Given the description of an element on the screen output the (x, y) to click on. 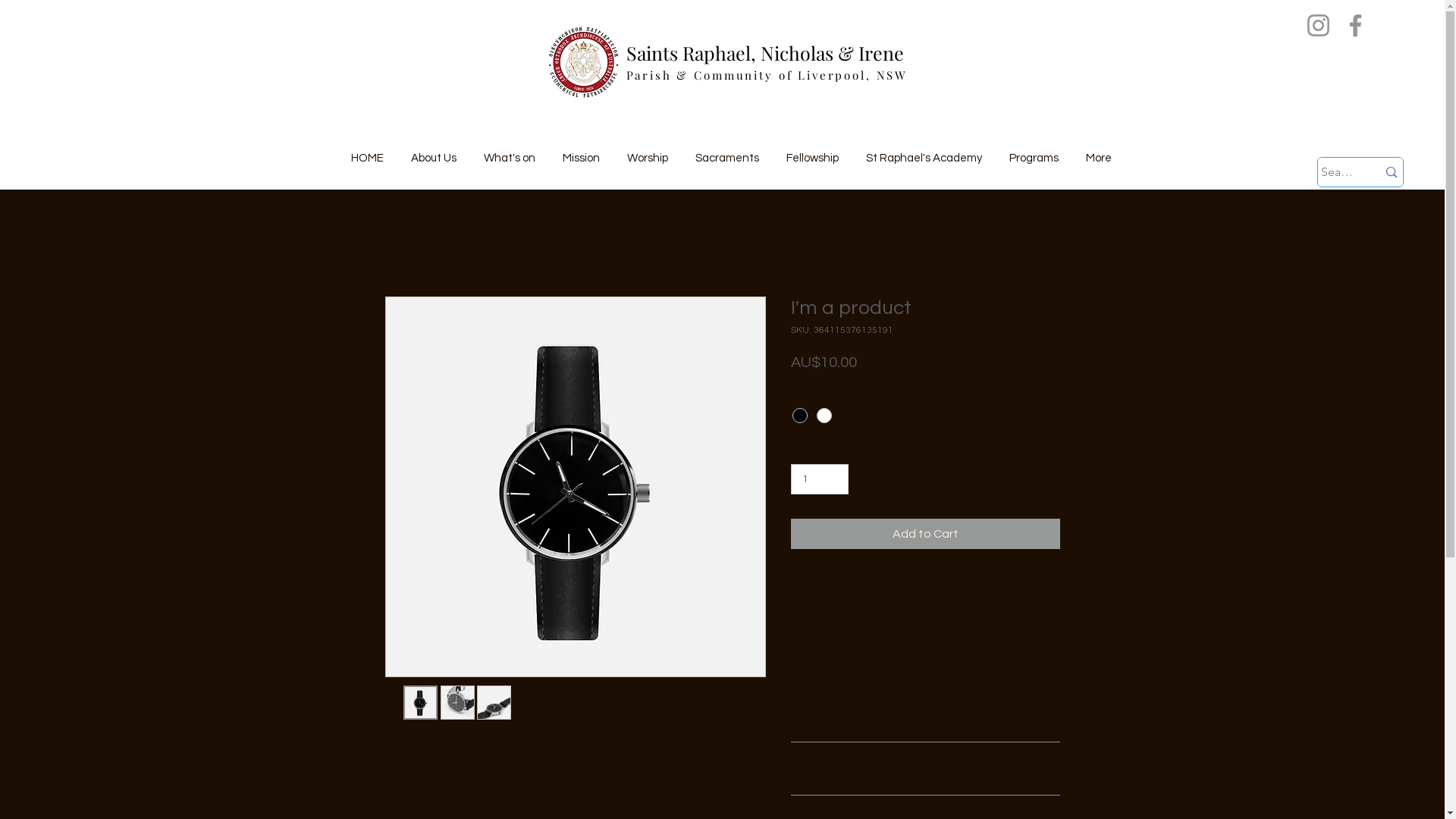
Add to Cart Element type: text (924, 533)
About Us Element type: text (433, 151)
Sacraments Element type: text (725, 151)
What's on Element type: text (509, 151)
RETURN & REFUND POLICY Element type: text (924, 768)
HOME Element type: text (366, 151)
Home Element type: text (400, 242)
New-Project-4_edited.png Element type: hover (583, 62)
PRODUCT INFO Element type: text (924, 593)
